Given the description of an element on the screen output the (x, y) to click on. 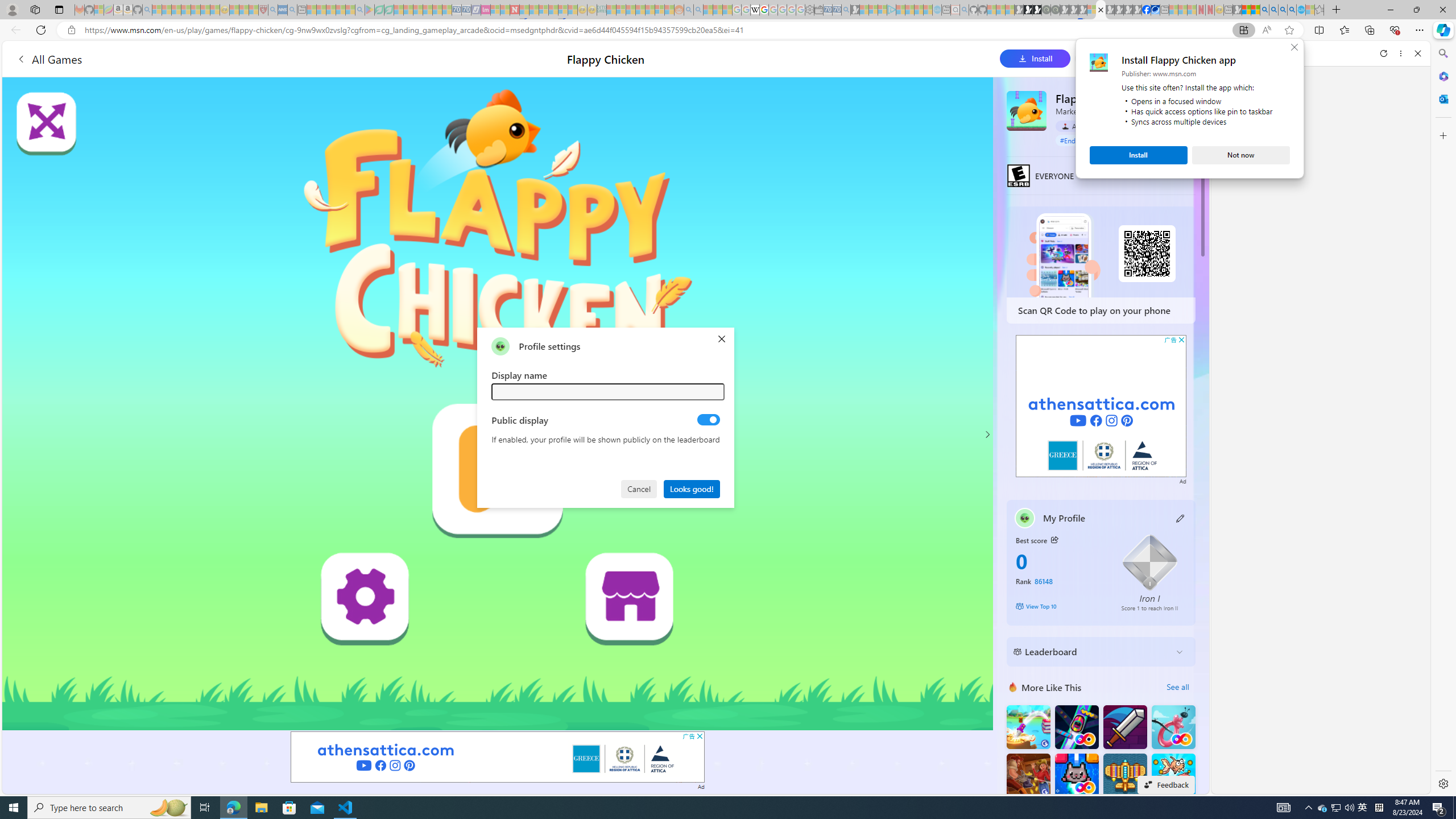
Pets - MSN - Sleeping (340, 9)
utah sues federal government - Search - Sleeping (291, 9)
Kitten Force FRVR (1076, 775)
See all (1177, 687)
